Given the description of an element on the screen output the (x, y) to click on. 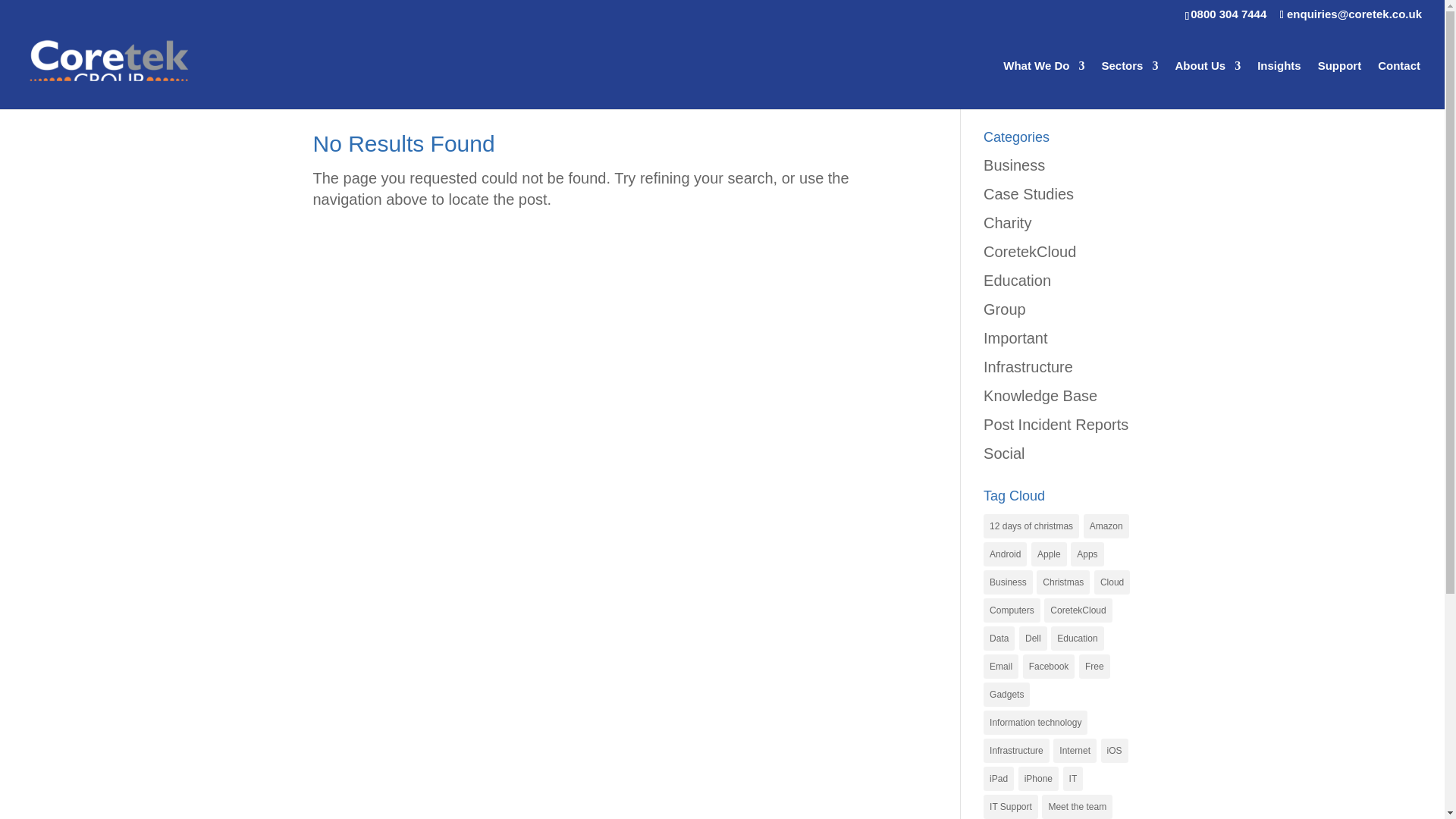
About Us (1207, 84)
Insights (1279, 84)
What We Do (1043, 84)
Sectors (1128, 84)
